Given the description of an element on the screen output the (x, y) to click on. 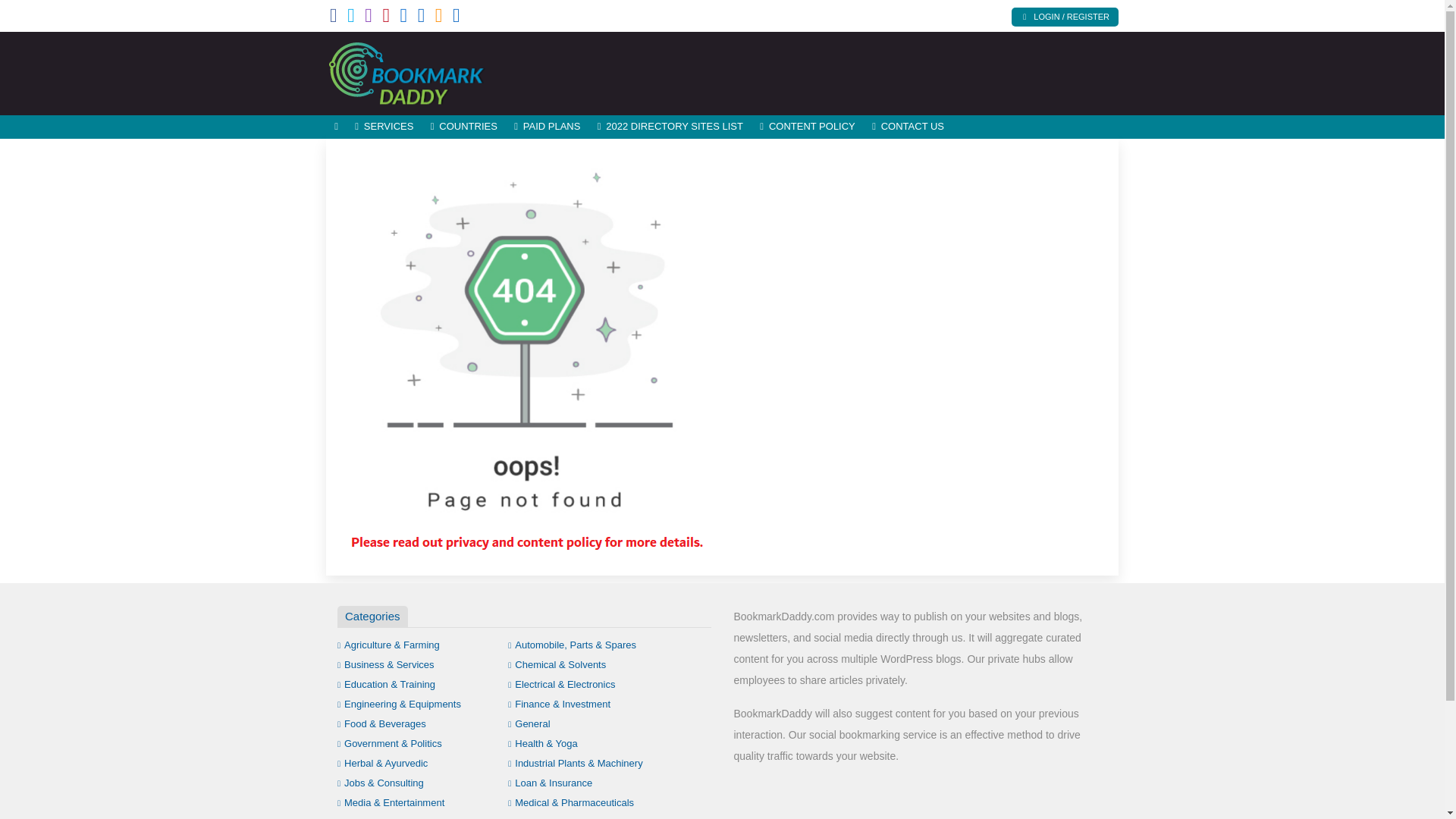
2022 DIRECTORY SITES LIST (670, 126)
PAID PLANS (547, 126)
CONTACT US (907, 126)
SERVICES (384, 126)
General (529, 723)
CONTENT POLICY (807, 126)
COUNTRIES (463, 126)
